Given the description of an element on the screen output the (x, y) to click on. 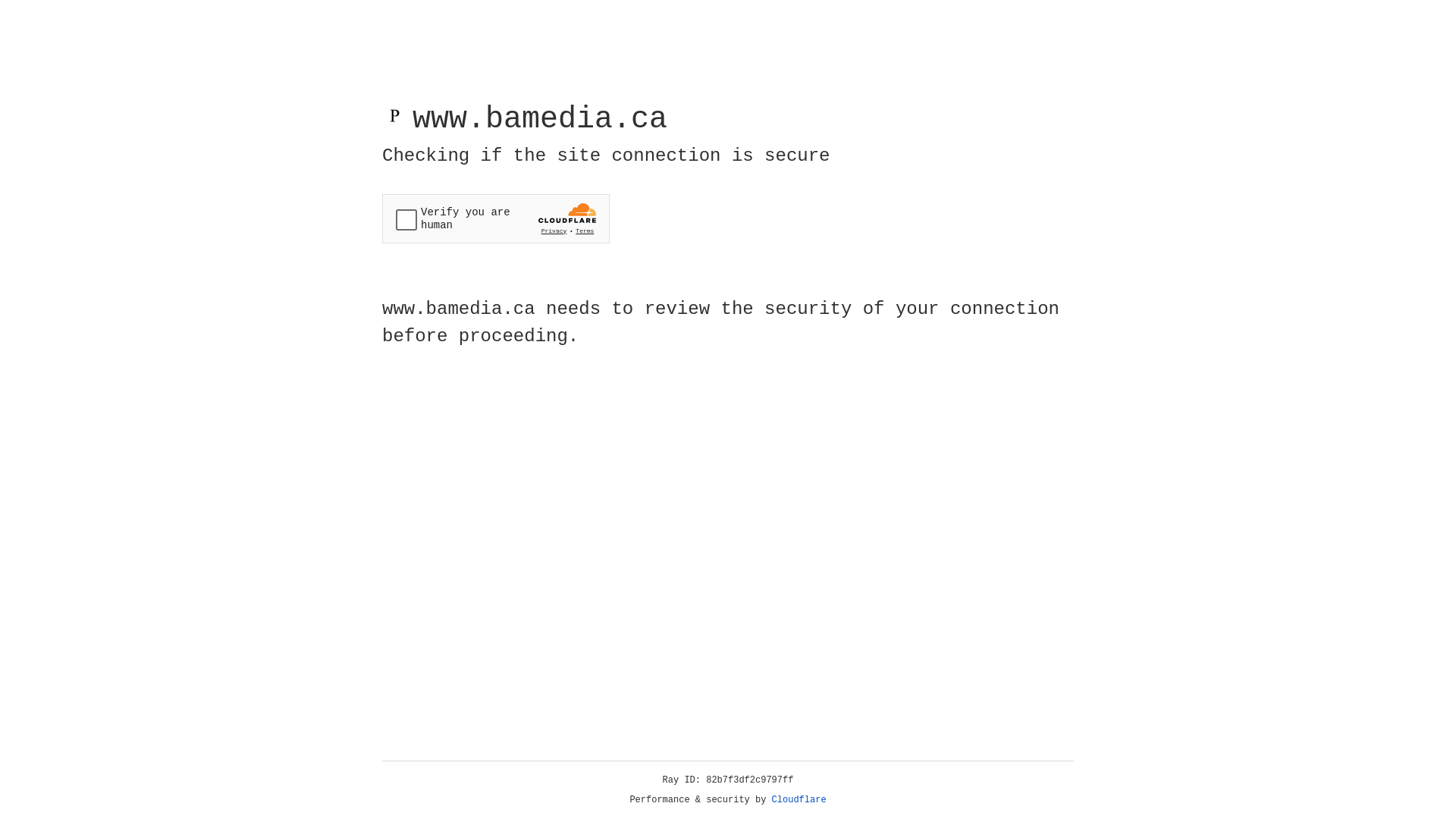
Widget containing a Cloudflare security challenge Element type: hover (495, 218)
Cloudflare Element type: text (798, 799)
